Given the description of an element on the screen output the (x, y) to click on. 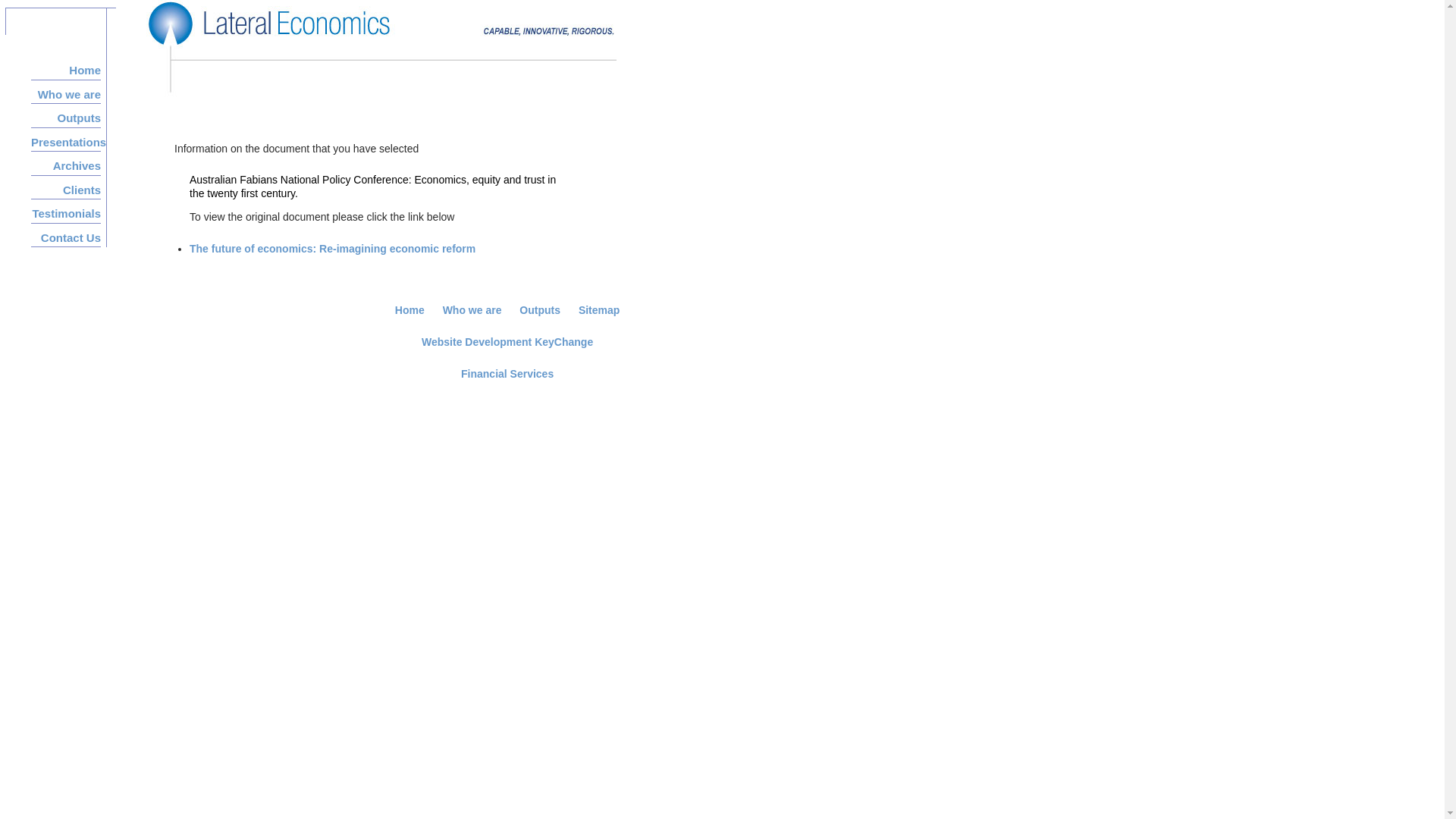
Home Element type: text (411, 309)
Outputs Element type: text (65, 114)
Who we are Element type: text (473, 309)
Financial Services Element type: text (507, 373)
Website Development KeyChange Element type: text (507, 341)
Who we are Element type: text (65, 90)
Archives Element type: text (65, 161)
Outputs Element type: text (541, 309)
Testimonials Element type: text (65, 209)
Presentations Element type: text (65, 137)
Contact Us Element type: text (65, 233)
Clients Element type: text (65, 186)
The future of economics: Re-imagining economic reform Element type: text (332, 248)
Sitemap Element type: text (599, 309)
